Given the description of an element on the screen output the (x, y) to click on. 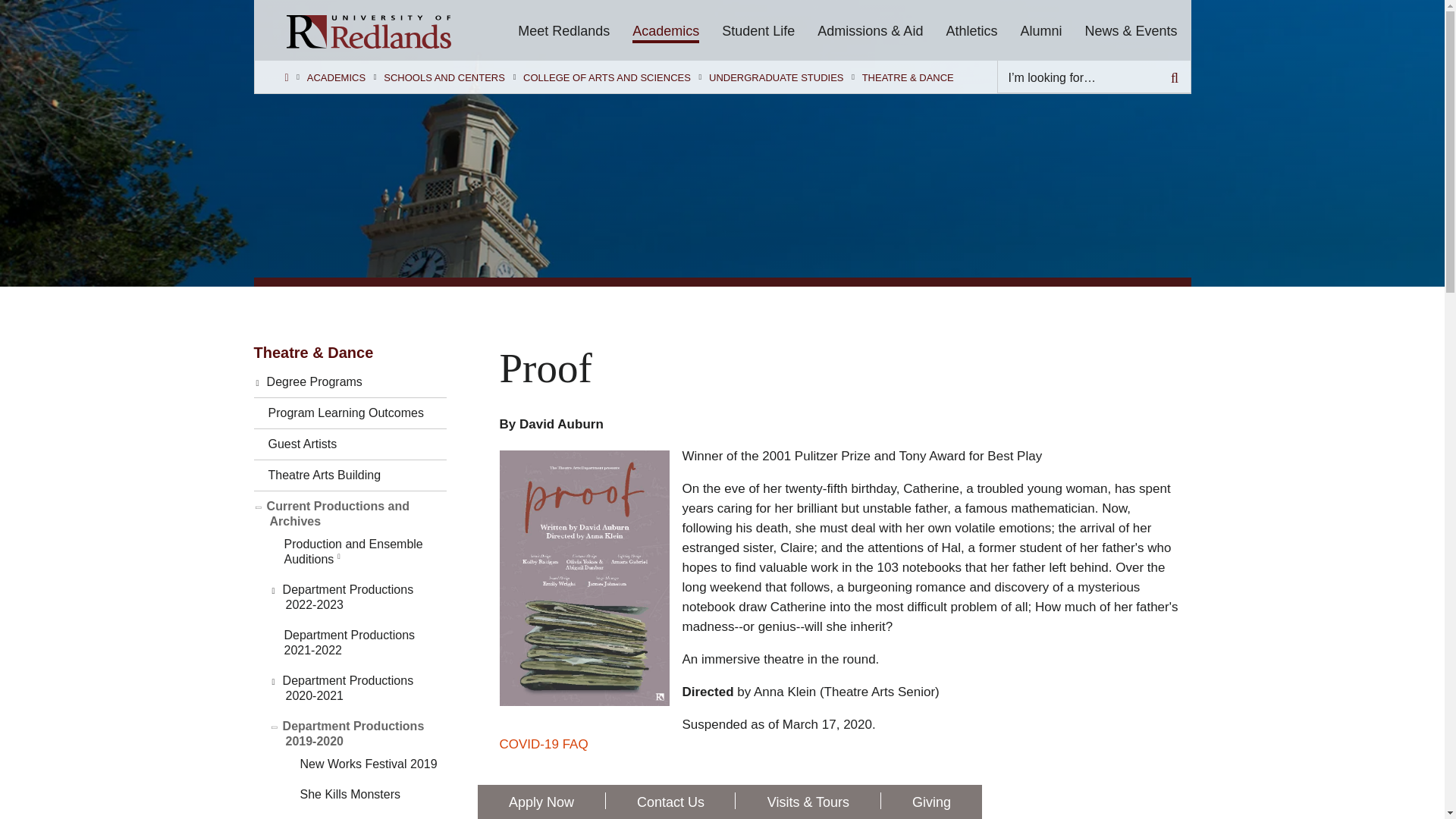
SCHOOLS AND CENTERS (444, 78)
Meet Redlands (564, 29)
Athletics (970, 29)
Search (1174, 76)
Alumni (1040, 29)
Giving (931, 801)
COLLEGE OF ARTS AND SCIENCES (606, 78)
COVID-19 Preparedness (543, 744)
Contact us (670, 801)
ACADEMICS (336, 78)
Student Life (758, 29)
Academics (664, 29)
UNDERGRADUATE STUDIES (776, 78)
